Given the description of an element on the screen output the (x, y) to click on. 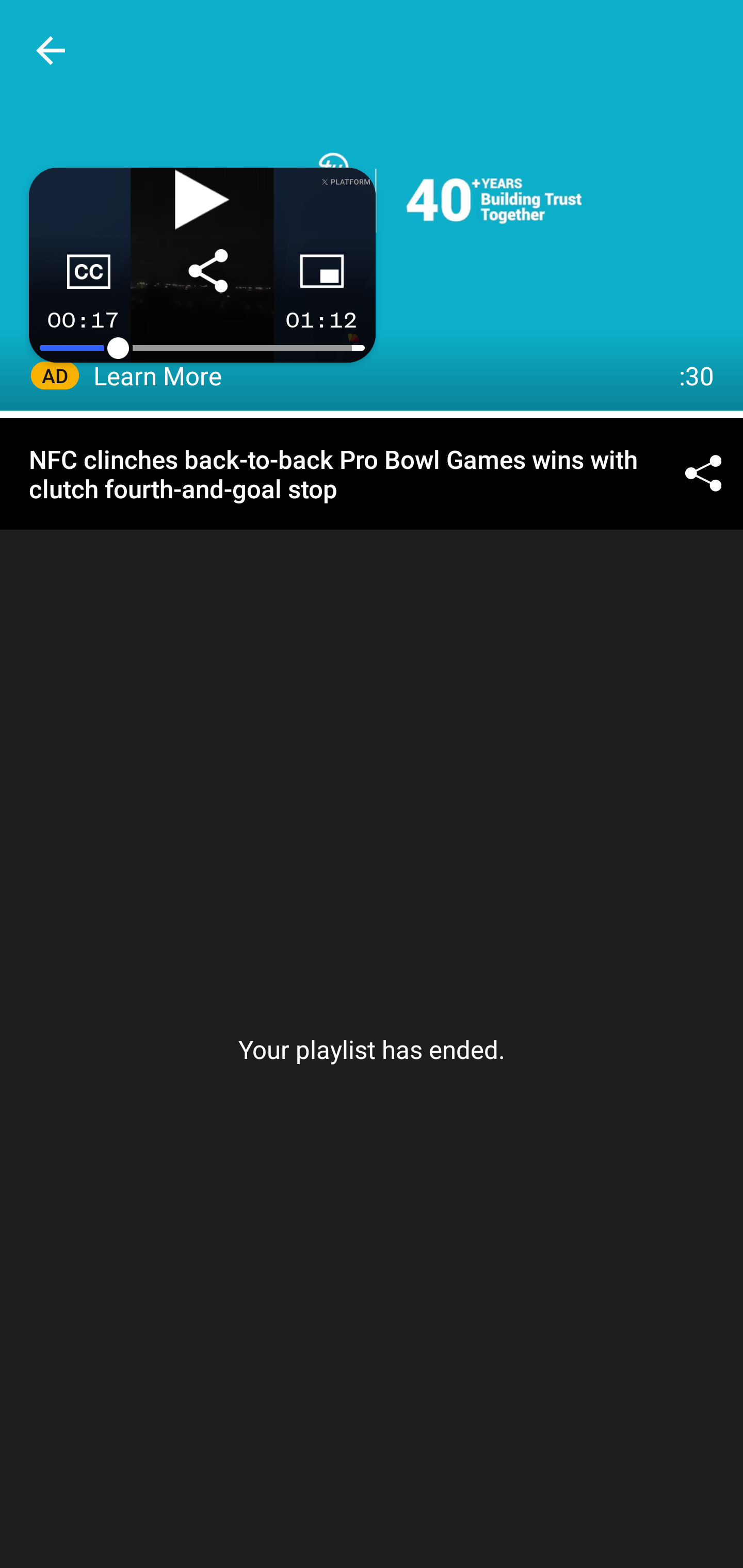
Navigate up (50, 50)
Learn More (157, 375)
Share © (703, 474)
